Given the description of an element on the screen output the (x, y) to click on. 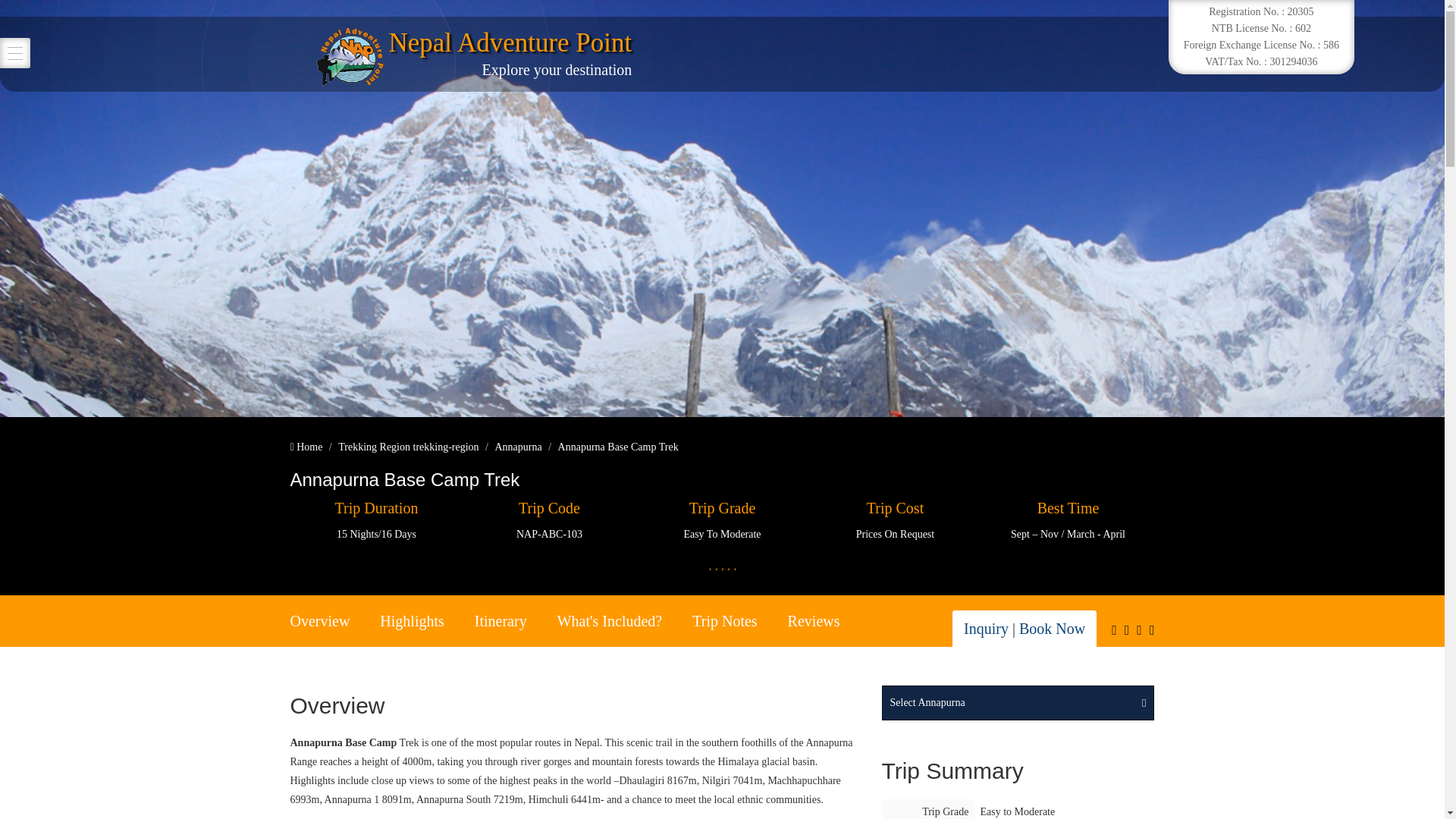
menu (15, 52)
